Given the description of an element on the screen output the (x, y) to click on. 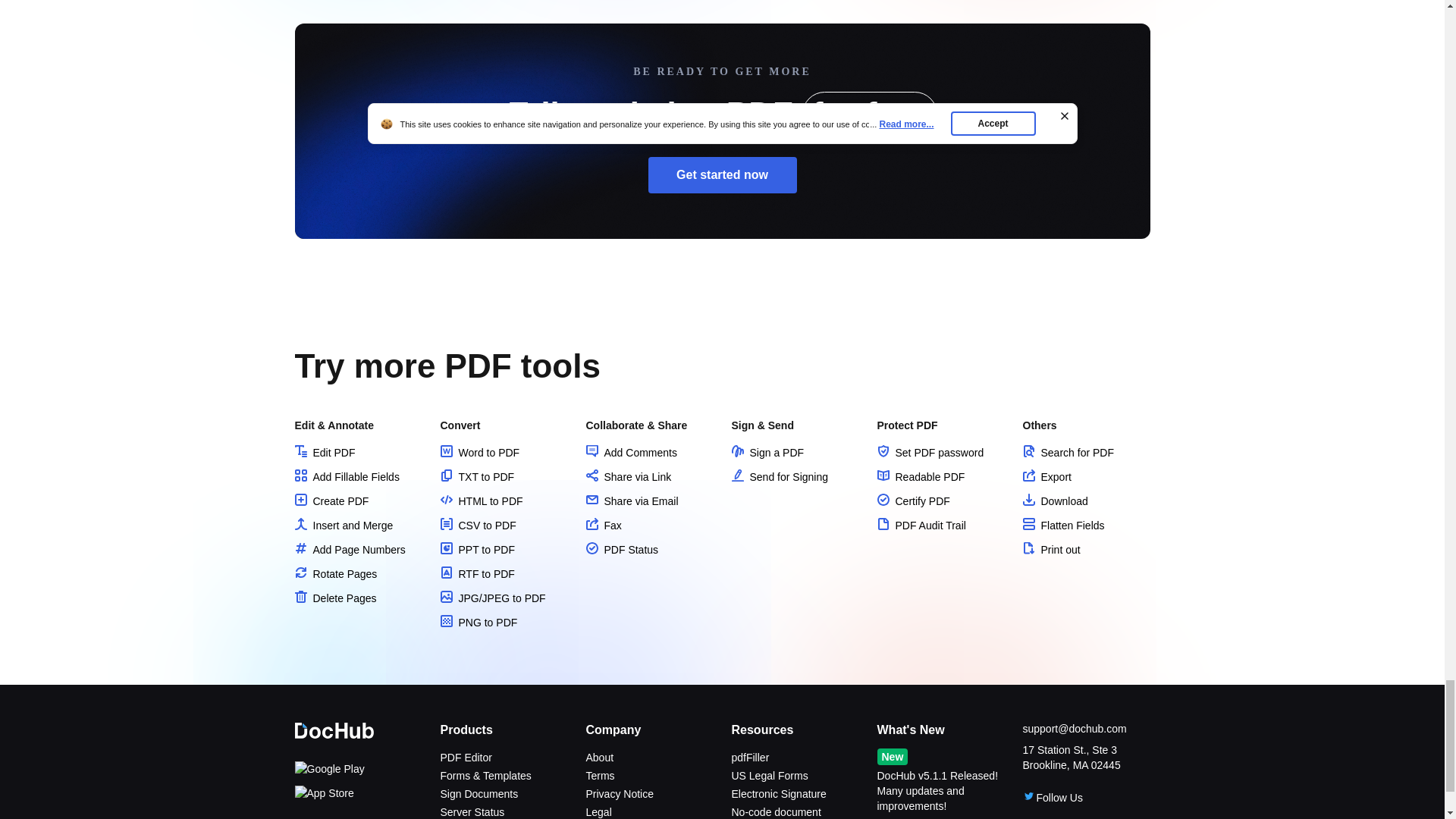
Create PDF (331, 500)
PNG to PDF (477, 622)
Add Page Numbers (349, 549)
Get started now (721, 175)
Fax (603, 525)
Share via Link (628, 476)
Share via Email (631, 500)
Word to PDF (479, 452)
RTF to PDF (476, 573)
Delete Pages (334, 598)
Add Fillable Fields (346, 476)
Insert and Merge (343, 525)
Rotate Pages (335, 573)
Add Comments (631, 452)
CSV to PDF (477, 525)
